Given the description of an element on the screen output the (x, y) to click on. 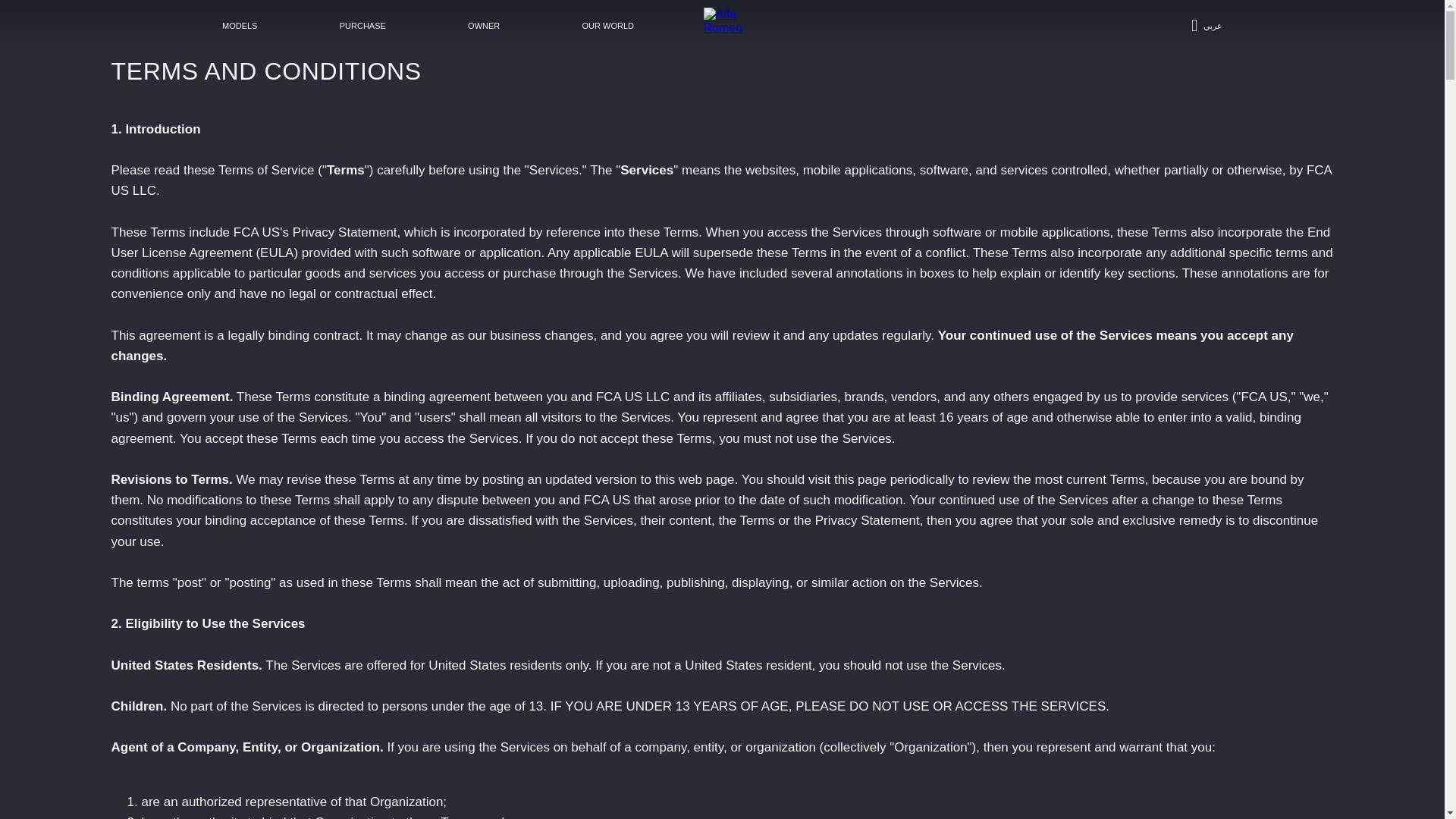
OUR WORLD (607, 25)
MODELS (239, 25)
OWNER (483, 25)
PURCHASE (361, 25)
